Given the description of an element on the screen output the (x, y) to click on. 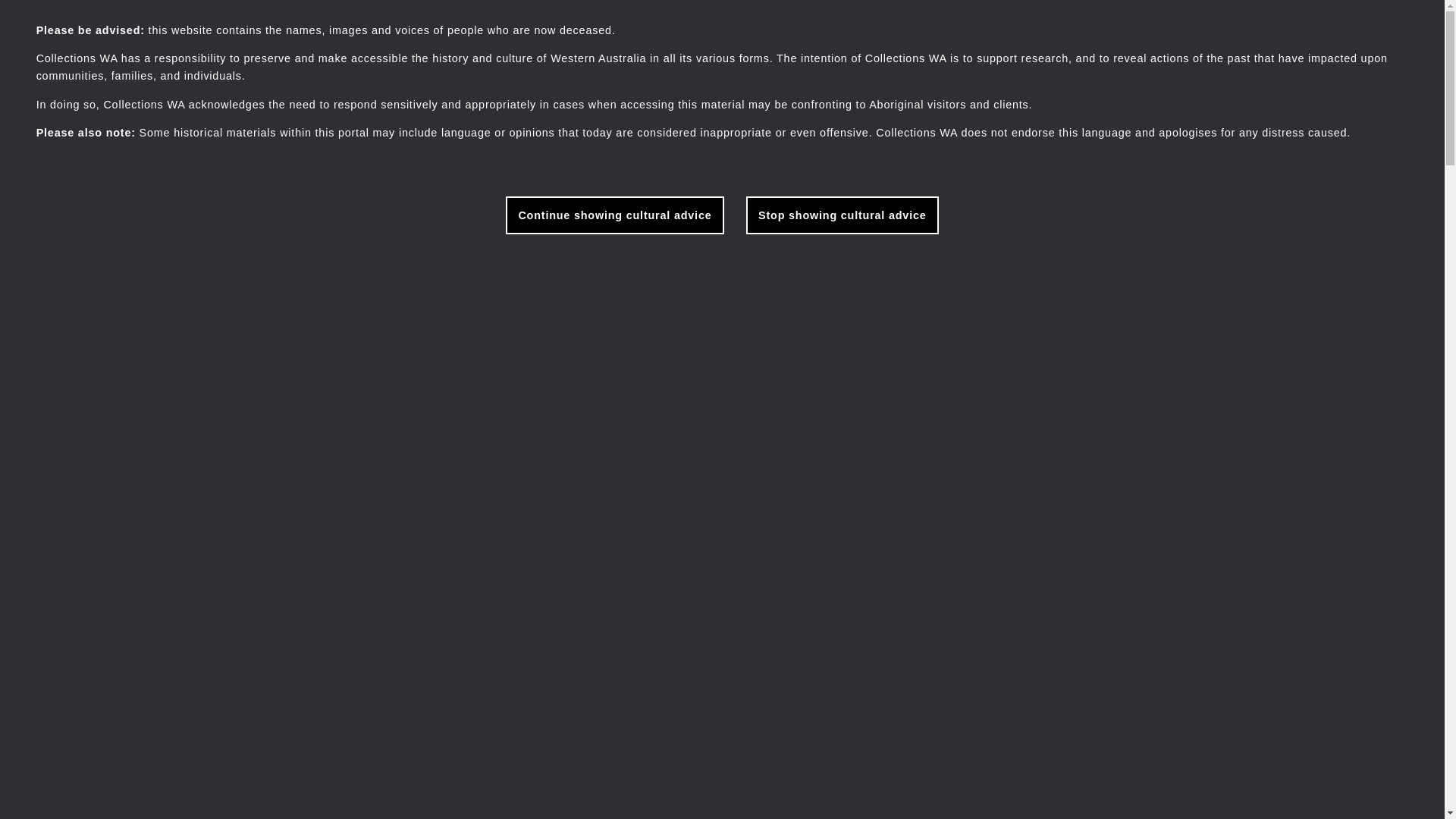
Skip to main content Element type: text (0, 0)
Join Element type: text (1339, 22)
News Element type: text (1291, 22)
Search Element type: text (1078, 22)
Collections WA Element type: text (112, 22)
Organisations Element type: text (1216, 22)
Stories Element type: text (1138, 22)
Log in Element type: text (1389, 22)
